Given the description of an element on the screen output the (x, y) to click on. 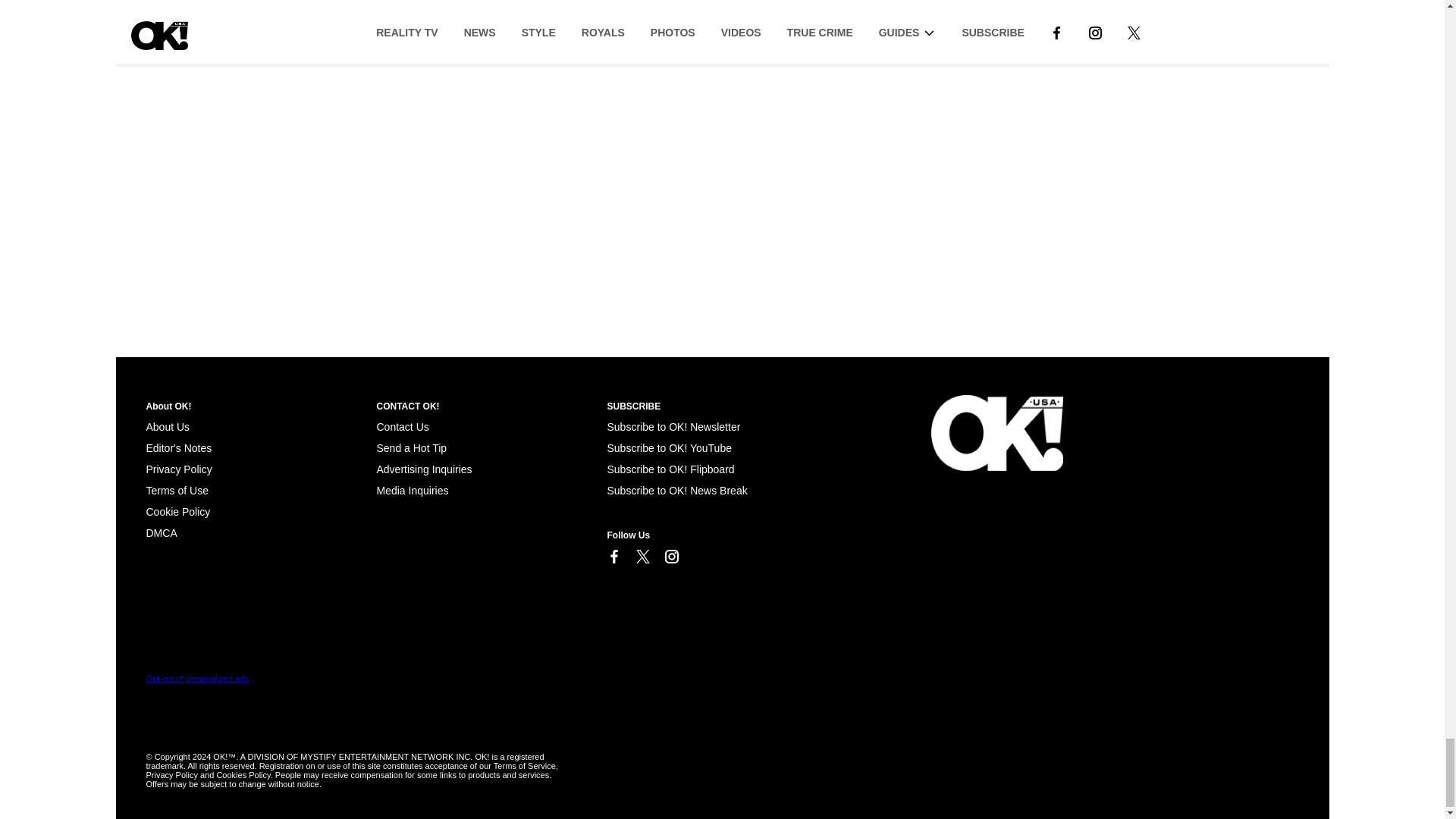
Editor's Notes (178, 448)
Send a Hot Tip (410, 448)
Terms of Use (176, 490)
Cookie Policy (177, 511)
Link to Instagram (670, 556)
Cookie Policy (160, 532)
About Us (167, 426)
Privacy Policy (178, 469)
Link to X (641, 556)
Link to Facebook (613, 556)
